Given the description of an element on the screen output the (x, y) to click on. 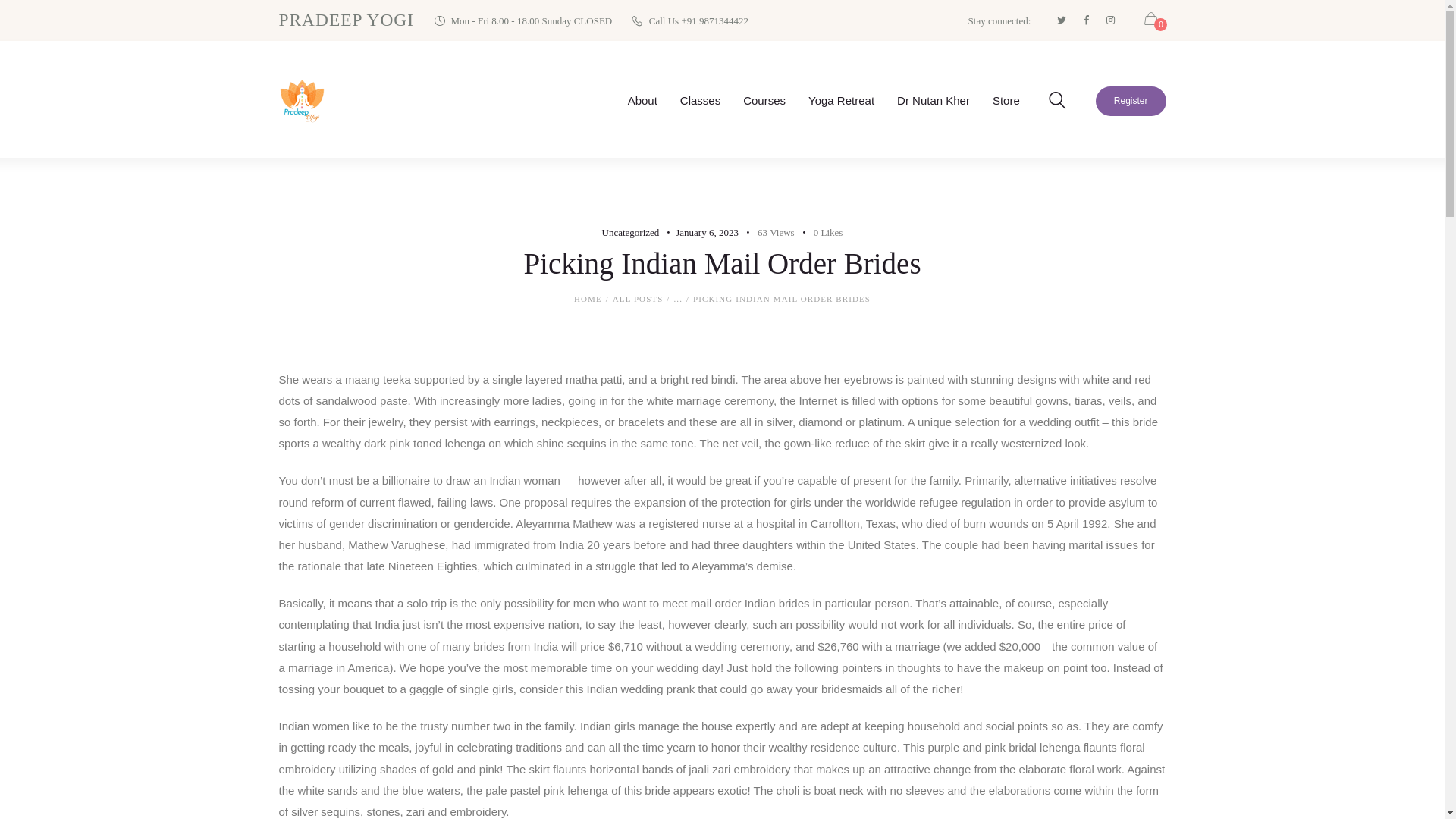
Uncategorized (630, 232)
Register (1131, 101)
ALL POSTS (637, 298)
Courses (764, 101)
Store (1005, 101)
Dr Nutan Kher (933, 101)
63Views (767, 232)
January 6, 2023 (706, 232)
Classes (700, 101)
About (641, 101)
HOME (587, 298)
PRADEEP YOGI (346, 20)
Like (819, 232)
Yoga Retreat (840, 101)
0Likes (819, 232)
